Given the description of an element on the screen output the (x, y) to click on. 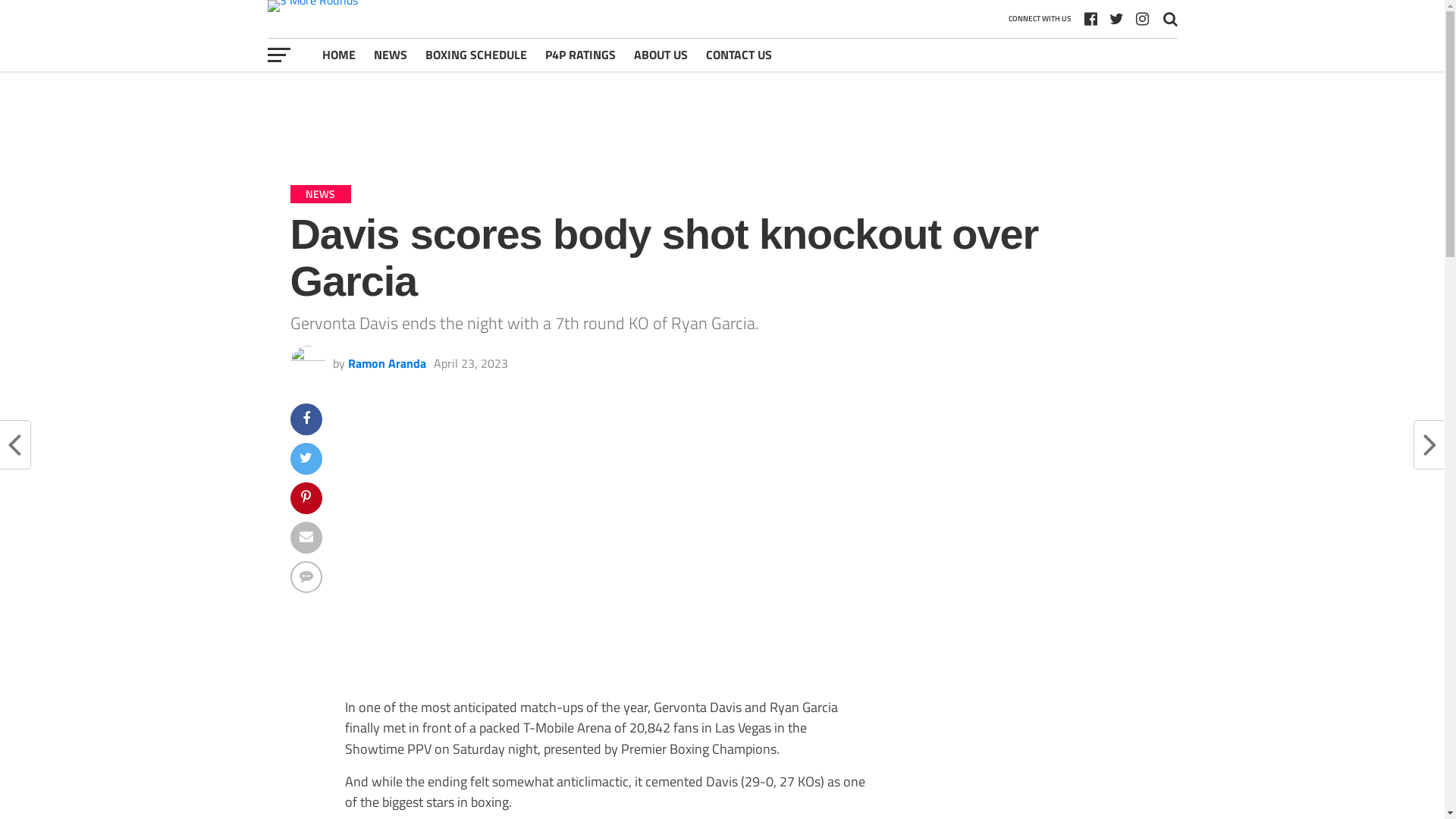
Ramon Aranda Element type: text (386, 363)
Advertisement Element type: hover (721, 116)
HOME Element type: text (338, 54)
ABOUT US Element type: text (660, 54)
CONTACT US Element type: text (738, 54)
NEWS Element type: text (389, 54)
BOXING SCHEDULE Element type: text (475, 54)
P4P RATINGS Element type: text (579, 54)
